Given the description of an element on the screen output the (x, y) to click on. 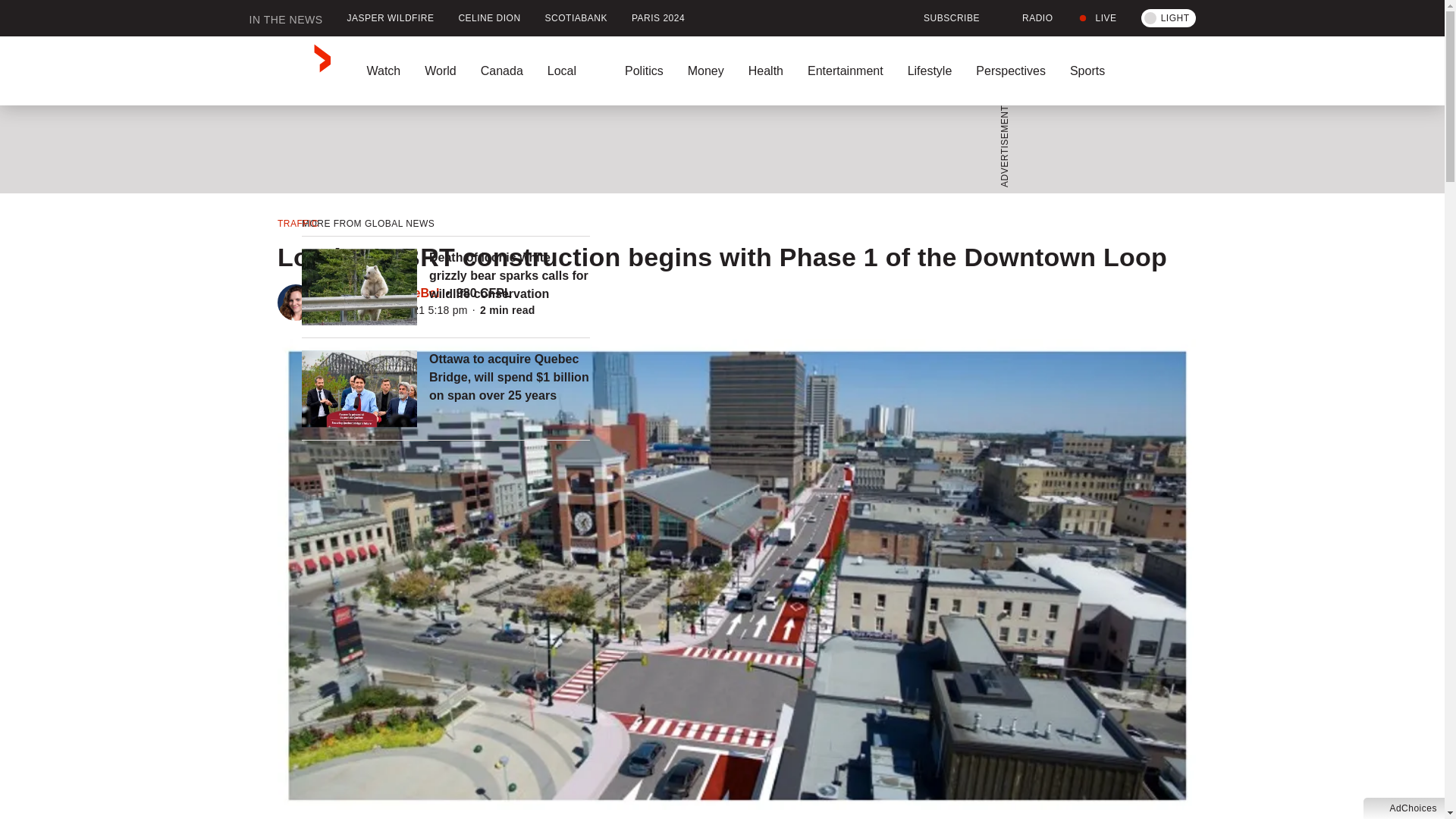
CELINE DION (488, 18)
Local (573, 70)
Perspectives (1010, 70)
Lifestyle (929, 70)
SCOTIABANK (576, 18)
Canada (501, 70)
Posts by Jacquelyn LeBel (391, 293)
Politics (643, 70)
GlobalNews home (289, 70)
RADIO (1028, 18)
3rd party ad content (716, 149)
PARIS 2024 (658, 18)
SUBSCRIBE (942, 18)
